Given the description of an element on the screen output the (x, y) to click on. 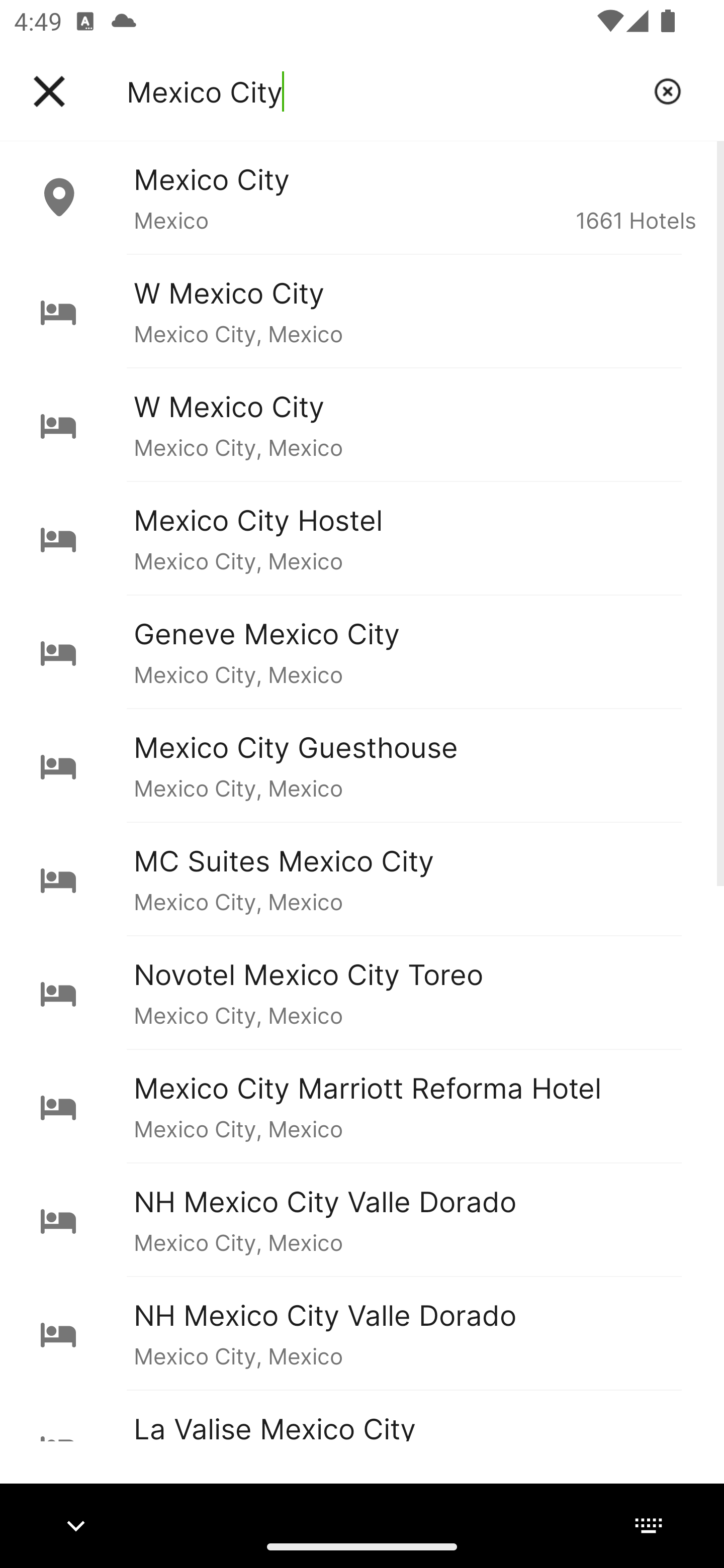
Mexico City (382, 91)
Mexico City Mexico 1661 Hotels (362, 197)
W Mexico City Mexico City, Mexico (362, 310)
W Mexico City Mexico City, Mexico (362, 424)
Mexico City Hostel Mexico City, Mexico (362, 537)
Geneve Mexico City Mexico City, Mexico (362, 651)
Mexico City Guesthouse Mexico City, Mexico (362, 764)
MC Suites Mexico City Mexico City, Mexico (362, 878)
Novotel Mexico City Toreo Mexico City, Mexico (362, 992)
NH Mexico City Valle Dorado Mexico City, Mexico (362, 1219)
NH Mexico City Valle Dorado Mexico City, Mexico (362, 1332)
